Given the description of an element on the screen output the (x, y) to click on. 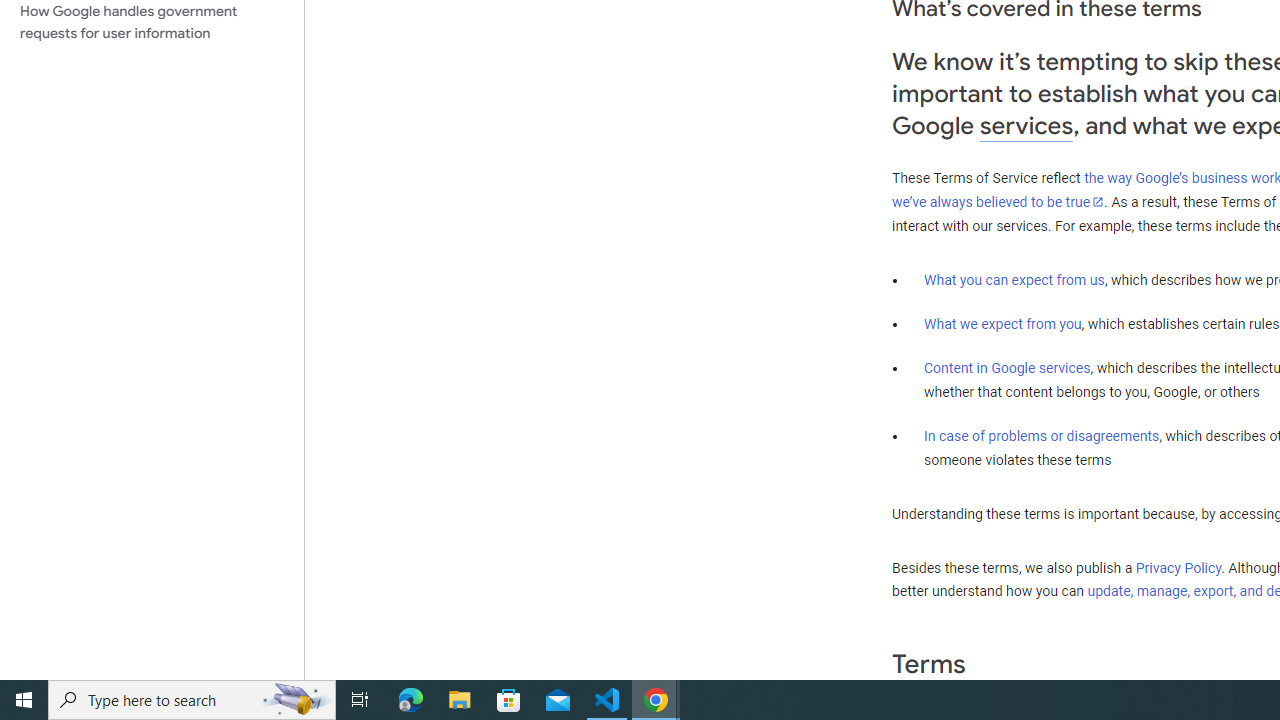
services (1026, 125)
What we expect from you (1002, 323)
What you can expect from us (1014, 279)
